Given the description of an element on the screen output the (x, y) to click on. 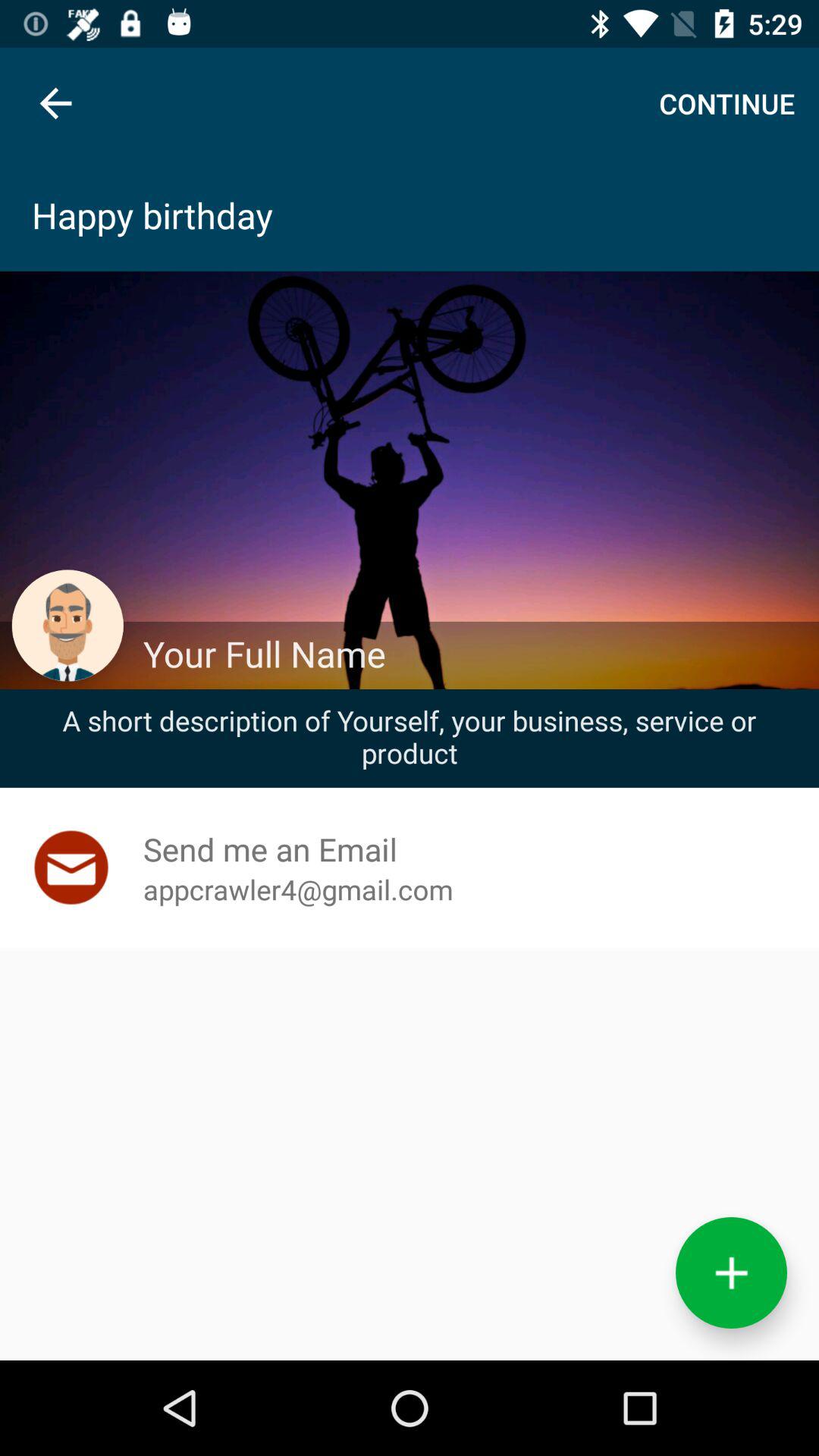
choose icon below the happy birthday (473, 653)
